Given the description of an element on the screen output the (x, y) to click on. 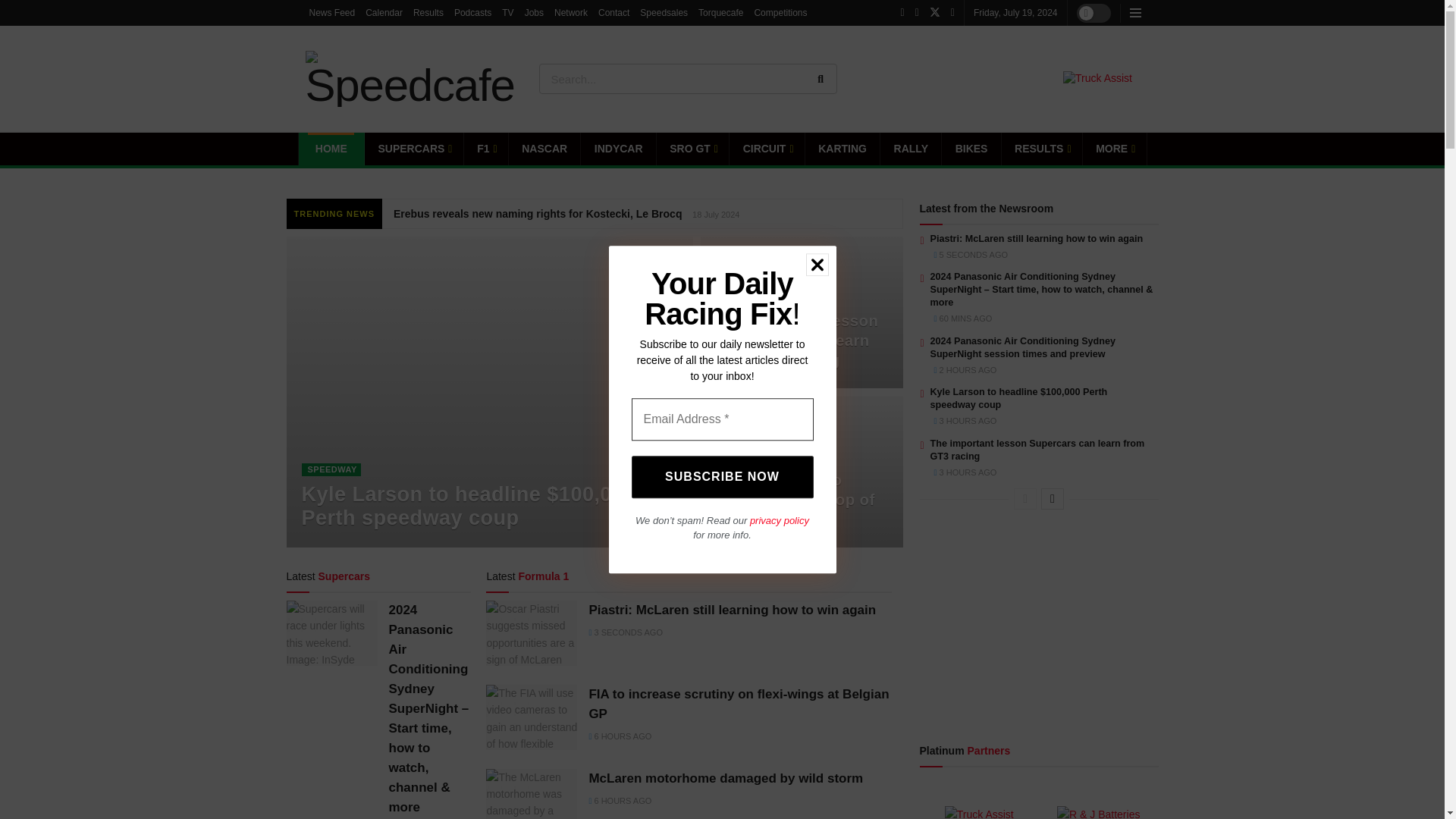
Network (571, 12)
News Feed (331, 12)
Competitions (780, 12)
Jobs (533, 12)
Speedsales (663, 12)
Calendar (384, 12)
Truck Assist (1097, 78)
Results (428, 12)
HOME (330, 148)
F1 (486, 148)
Torquecafe (720, 12)
SUPERCARS (414, 148)
Podcasts (473, 12)
SUBSCRIBE NOW (721, 476)
Contact (613, 12)
